Given the description of an element on the screen output the (x, y) to click on. 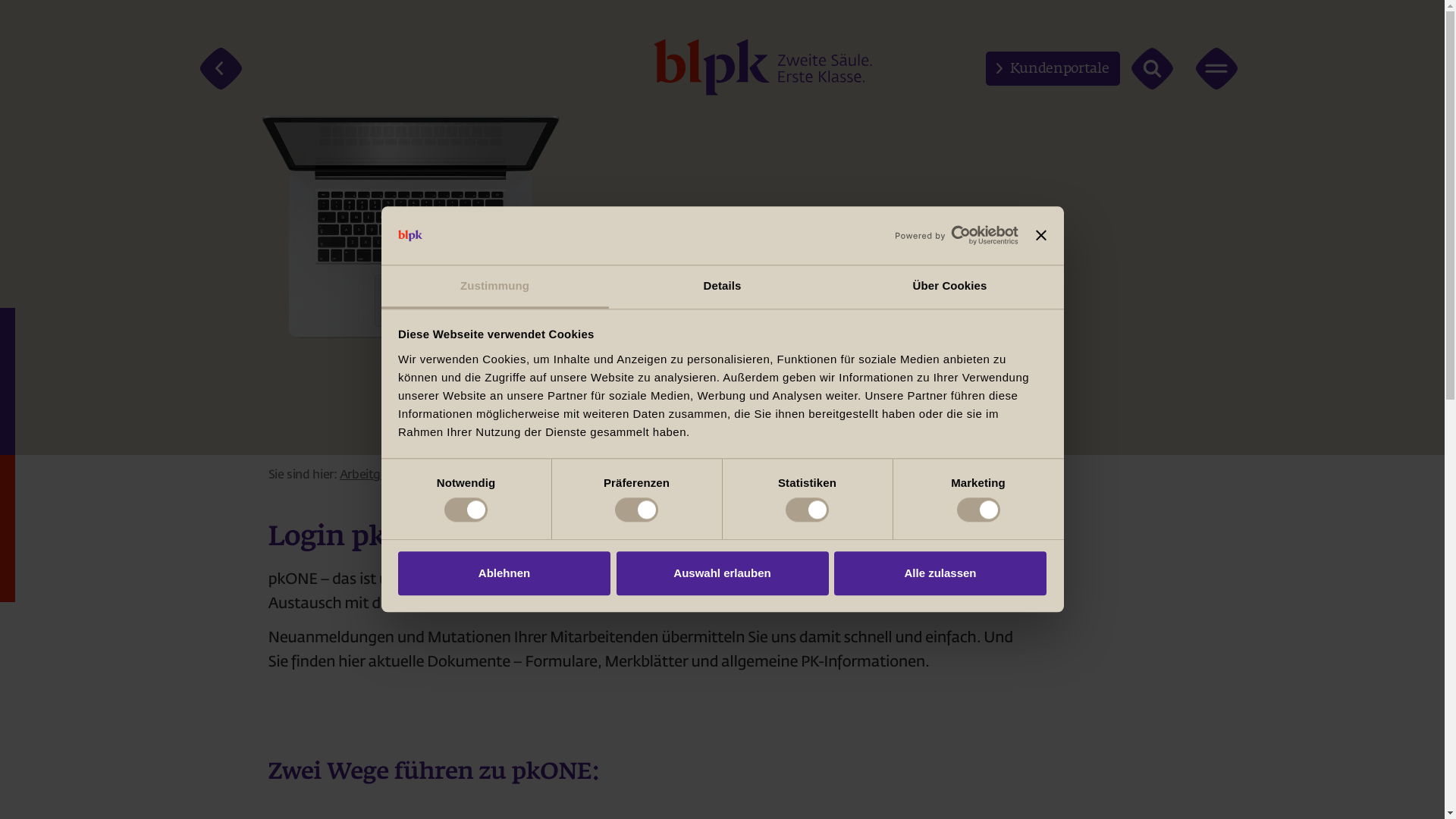
Zustimmung Element type: text (494, 286)
Auswahl erlauben Element type: text (721, 573)
Alle zulassen Element type: text (940, 573)
Ablehnen Element type: text (504, 573)
Arbeitgebende Element type: text (380, 475)
Details Element type: text (721, 286)
Kundenportale Element type: text (1052, 68)
